Given the description of an element on the screen output the (x, y) to click on. 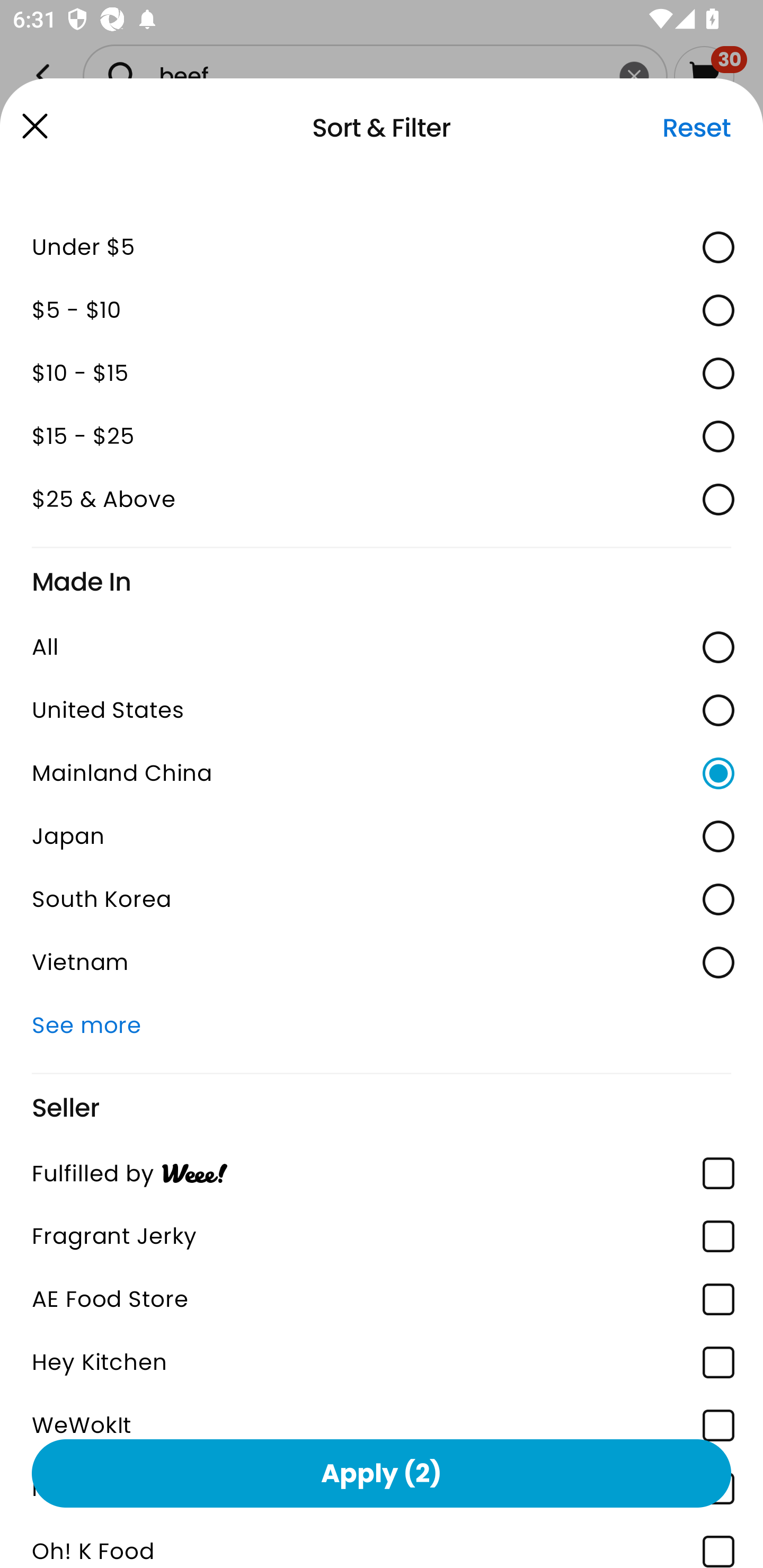
Reset (696, 127)
See more (381, 1025)
Apply (2) (381, 1472)
